Given the description of an element on the screen output the (x, y) to click on. 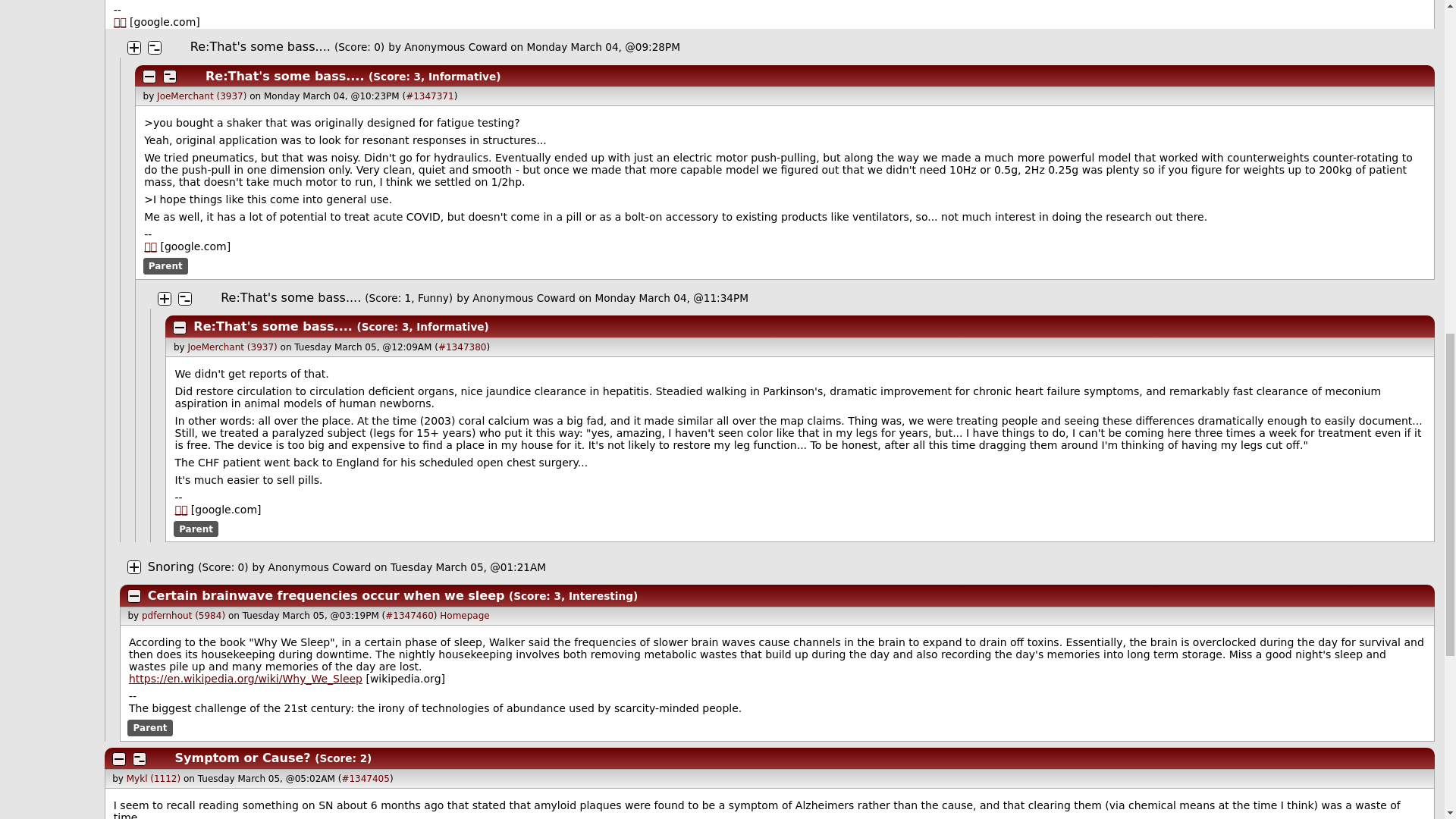
Show all comments in tree (175, 47)
google.com (119, 21)
